Given the description of an element on the screen output the (x, y) to click on. 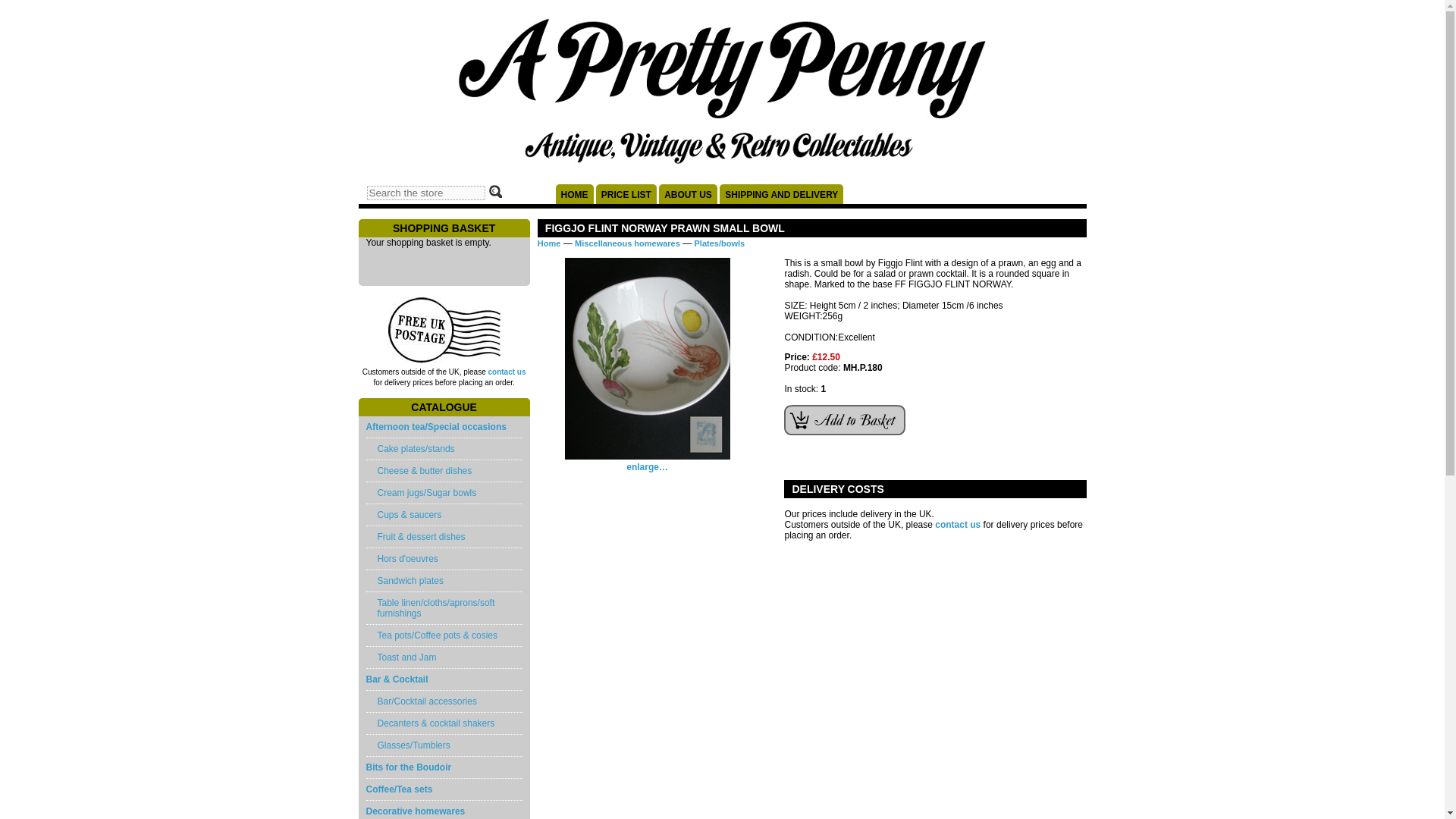
SHIPPING AND DELIVERY (781, 193)
Decorative homewares (443, 809)
Bits for the Boudoir (443, 767)
Hors d'oeuvres (443, 558)
FIGGJO FLINT NORWAY PRAWN SMALL BOWL (647, 461)
contact us (506, 371)
PRICE LIST (625, 193)
HOME (573, 193)
Sandwich plates (443, 581)
ABOUT US (688, 193)
Toast and Jam (443, 658)
